Given the description of an element on the screen output the (x, y) to click on. 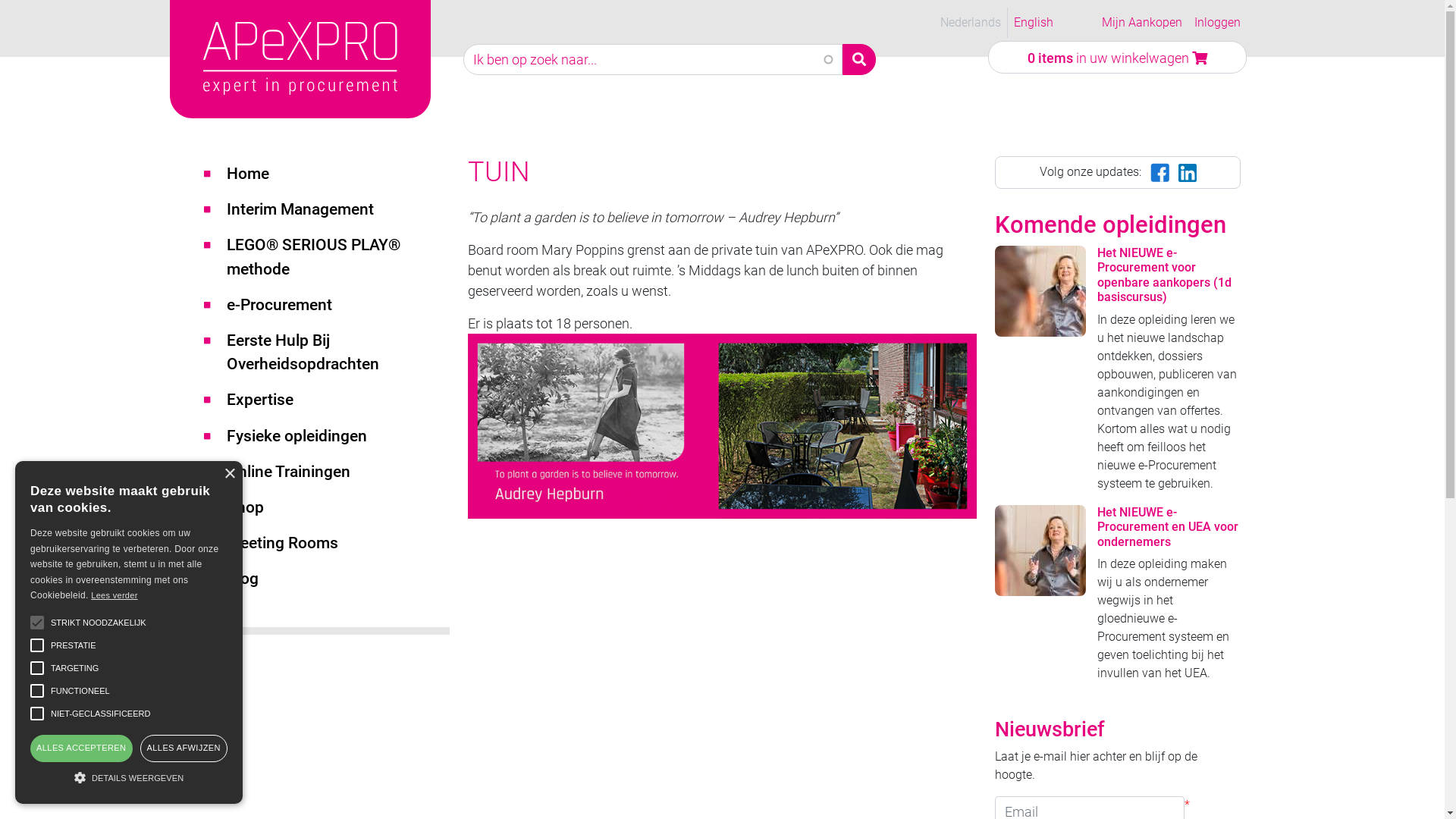
Zoek Element type: text (858, 59)
Home Element type: hover (330, 59)
Home Element type: text (334, 173)
e-Procurement Element type: text (334, 305)
Het NIEUWE e-Procurement en UEA voor ondernemers Element type: text (1167, 527)
Shop Element type: text (334, 507)
Interim Management Element type: text (334, 209)
Nederlands Element type: text (970, 22)
Eerste Hulp Bij Overheidsopdrachten Element type: text (334, 352)
Lees verder Element type: text (114, 594)
Inloggen Element type: text (1217, 22)
Mijn Aankopen Element type: text (1141, 22)
English Element type: text (1033, 22)
Blog Element type: text (334, 578)
Online Trainingen Element type: text (334, 471)
0 items in uw winkelwagen Element type: text (1117, 57)
